Given the description of an element on the screen output the (x, y) to click on. 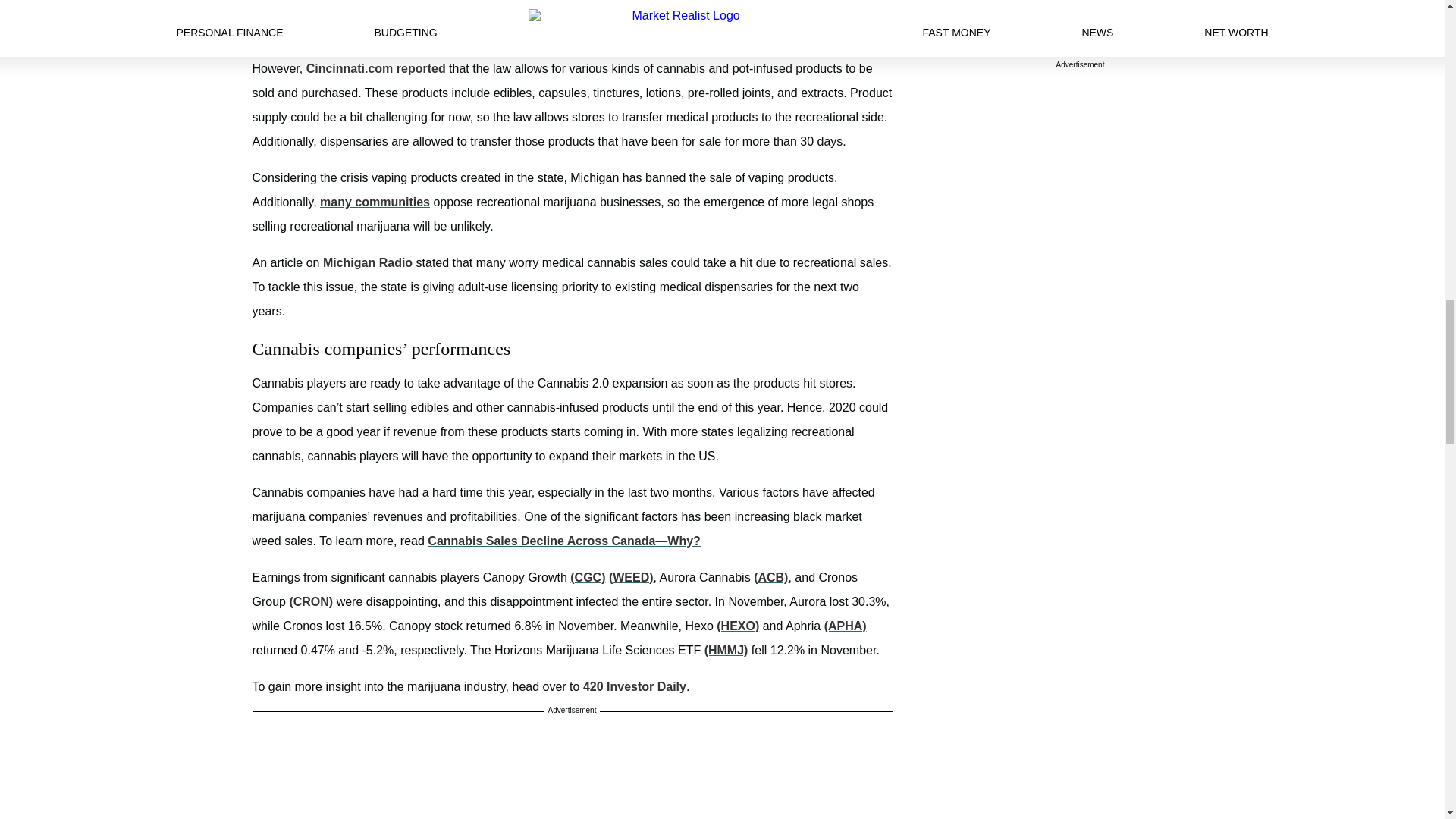
Cincinnati.com reported (375, 68)
Michigan Radio (367, 262)
many communities (374, 201)
